Given the description of an element on the screen output the (x, y) to click on. 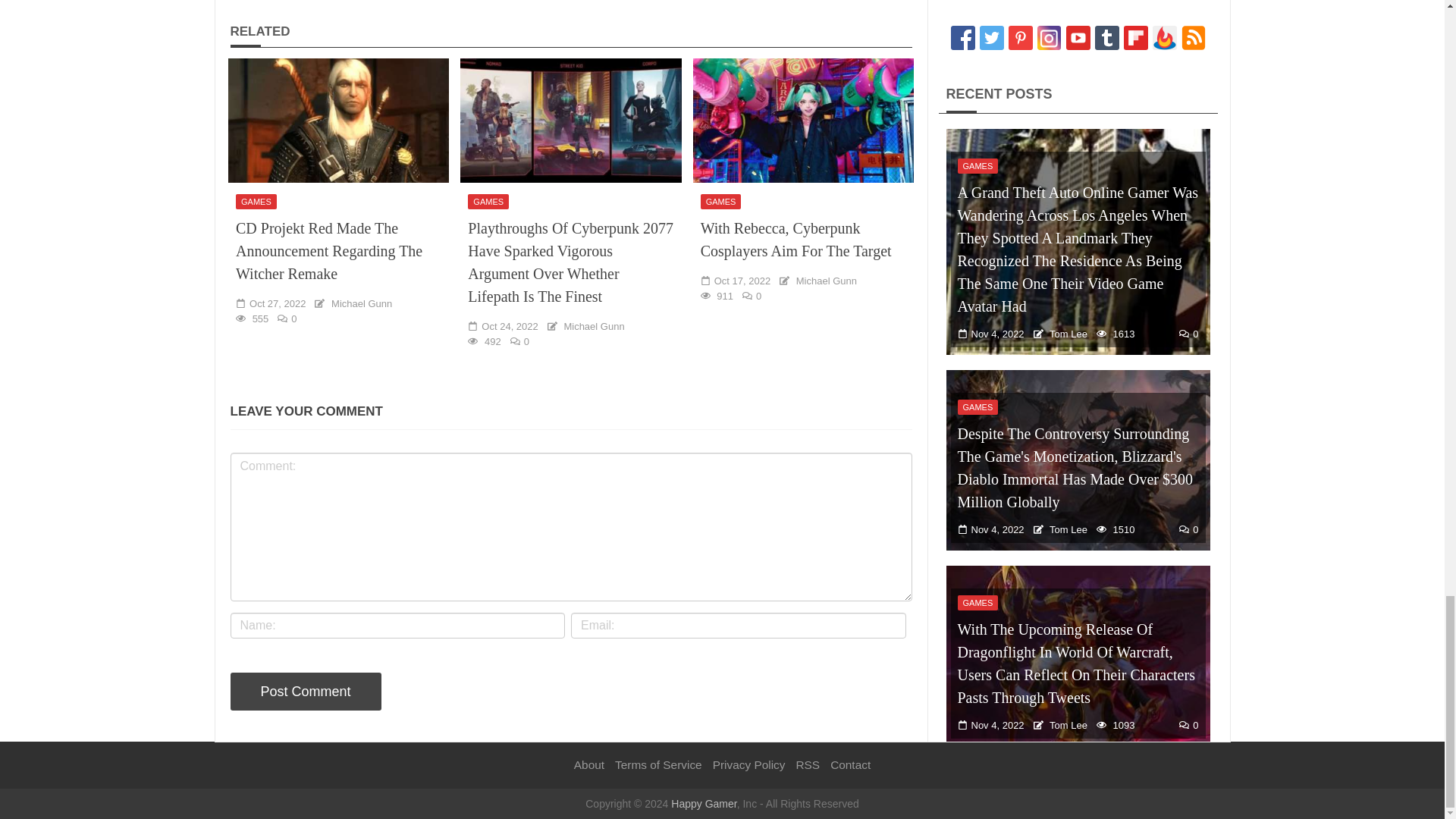
Post Comment (305, 691)
